Given the description of an element on the screen output the (x, y) to click on. 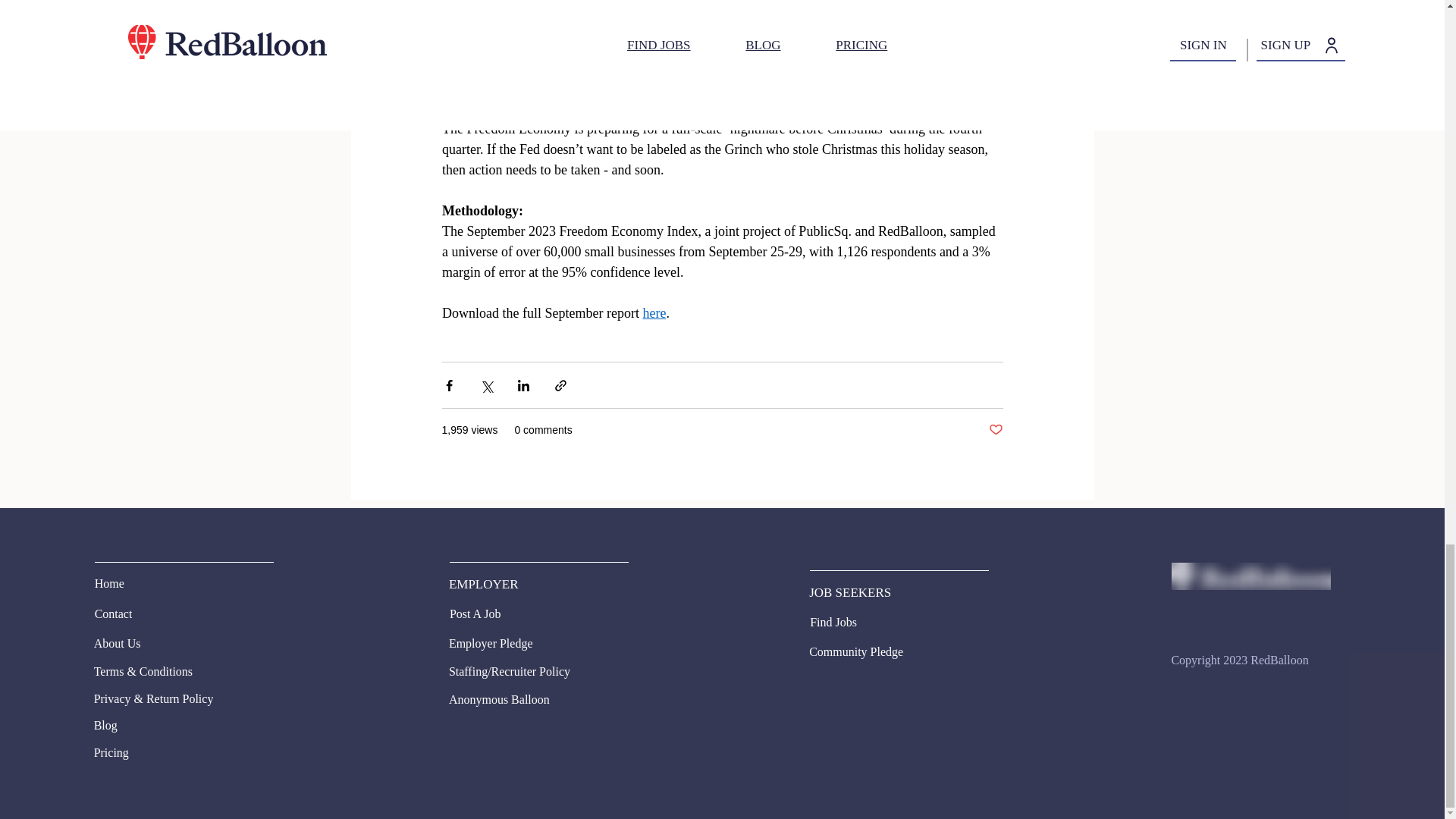
here (653, 313)
Pricing (178, 752)
Employer Pledge (503, 643)
Post not marked as liked (995, 430)
About Us (148, 643)
Post A Job (488, 614)
Find Jobs (847, 622)
Anonymous Balloon (532, 700)
Blog (178, 725)
Home (132, 583)
